Given the description of an element on the screen output the (x, y) to click on. 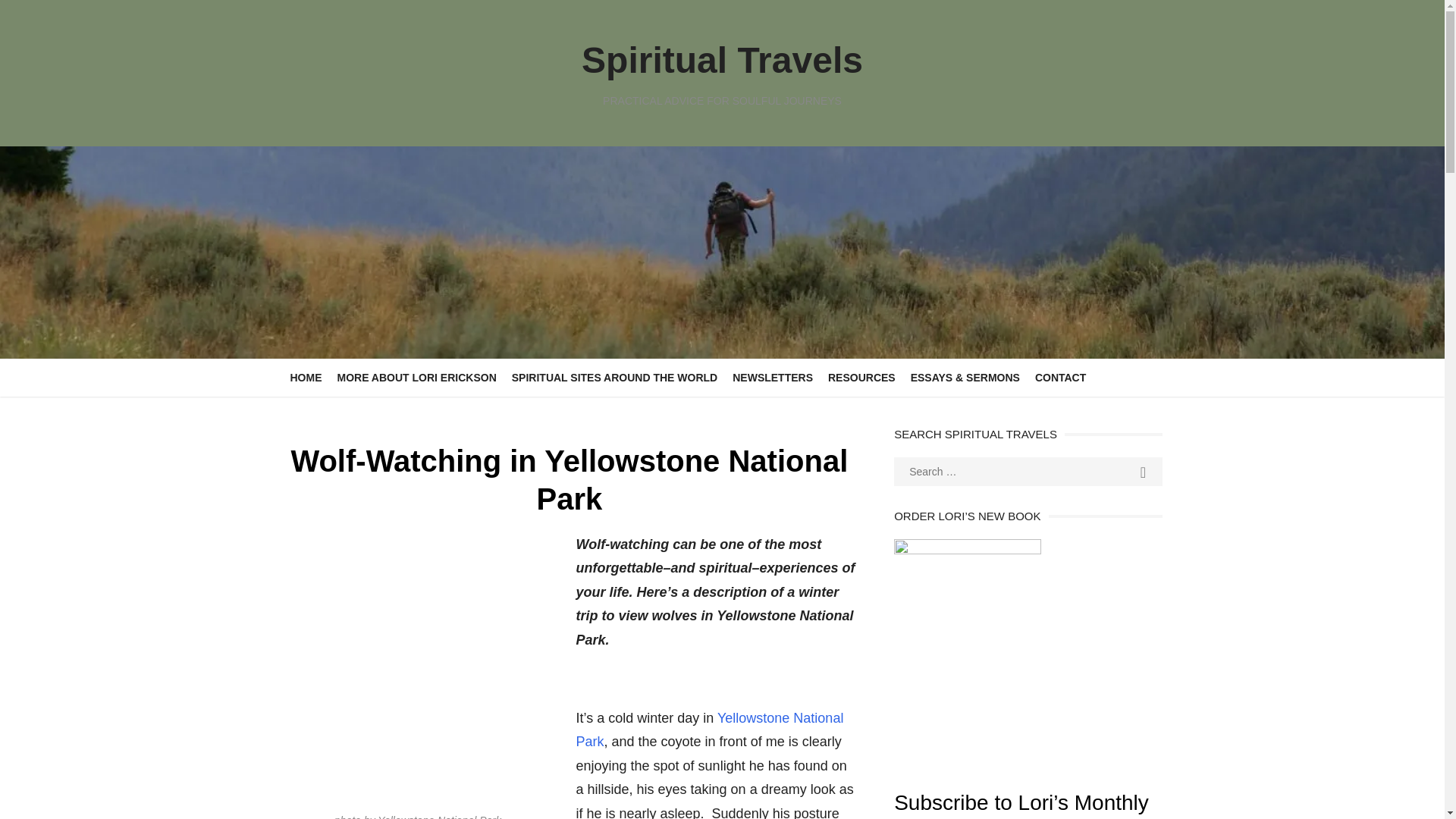
NEWSLETTERS (773, 377)
RESOURCES (861, 377)
CONTACT (1060, 377)
Yellowstone National Park (710, 729)
SPIRITUAL SITES AROUND THE WORLD (614, 377)
MORE ABOUT LORI ERICKSON (416, 377)
Spiritual Travels (721, 60)
HOME (305, 377)
